Given the description of an element on the screen output the (x, y) to click on. 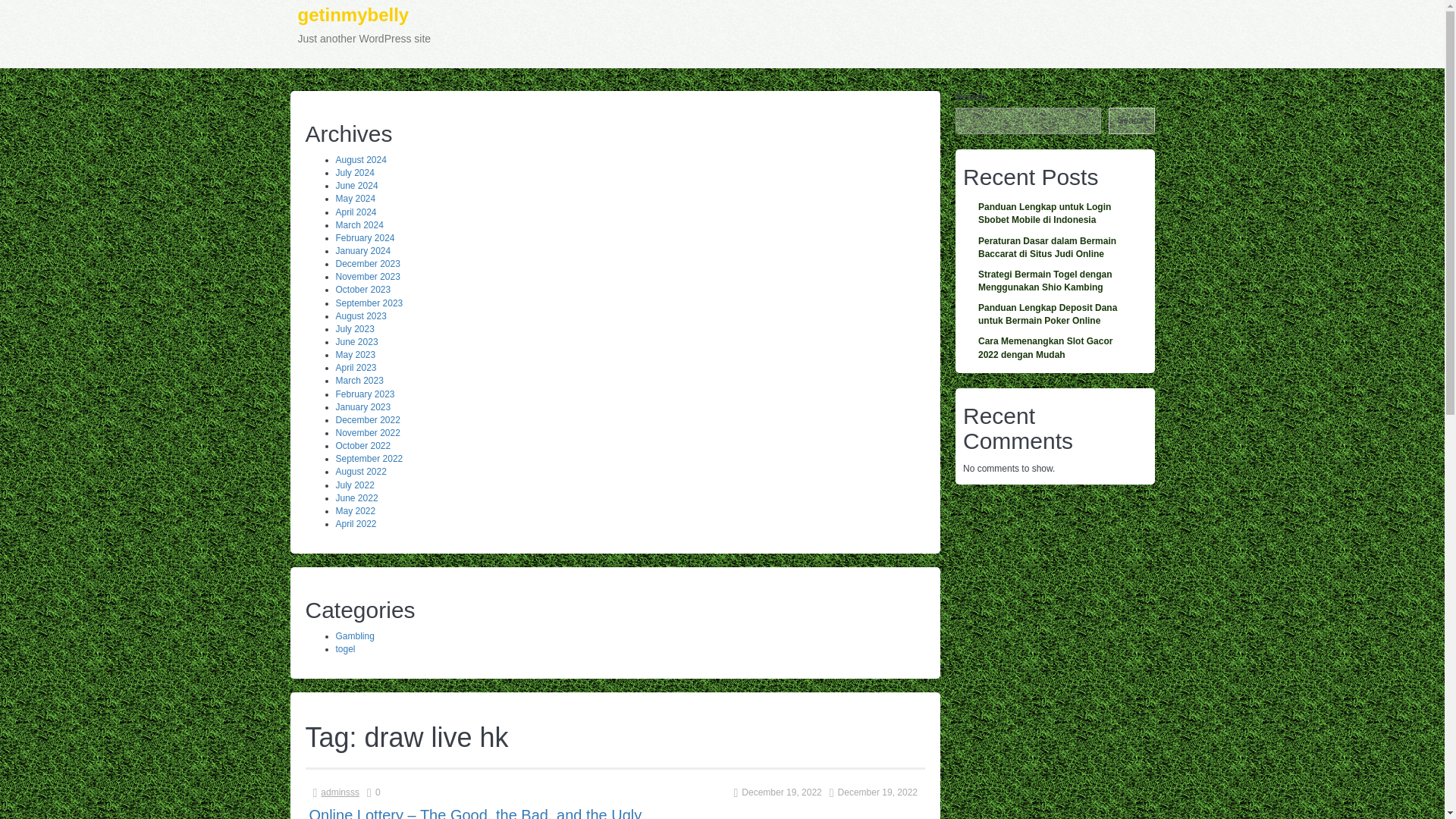
June 2024 (355, 185)
May 2022 (354, 511)
January 2024 (362, 250)
togel (344, 648)
Gambling (354, 635)
June 2023 (355, 341)
March 2024 (358, 225)
August 2022 (359, 471)
September 2023 (368, 303)
July 2022 (354, 484)
December 2022 (366, 419)
June 2022 (355, 498)
April 2024 (354, 212)
July 2024 (354, 172)
May 2023 (354, 354)
